Given the description of an element on the screen output the (x, y) to click on. 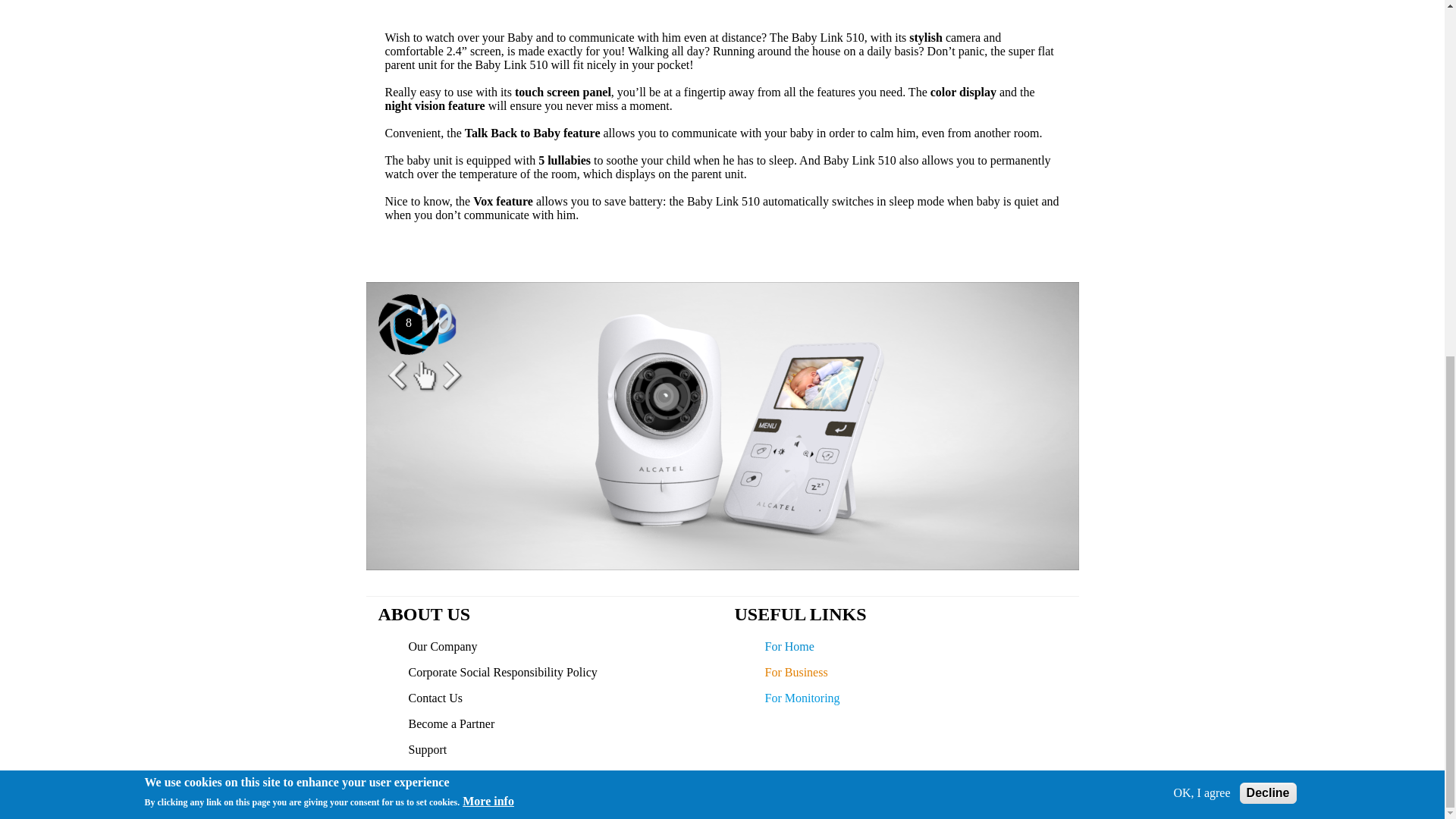
For Home (788, 645)
For Monitoring (802, 697)
Support (426, 748)
Decline (1268, 165)
More info (488, 173)
Become a Partner (451, 723)
Our Company (442, 645)
OK, I agree (1201, 165)
Terms of Use (440, 775)
For Business (795, 671)
Corporate Social Responsibility Policy (501, 671)
Contact Us (435, 697)
